Given the description of an element on the screen output the (x, y) to click on. 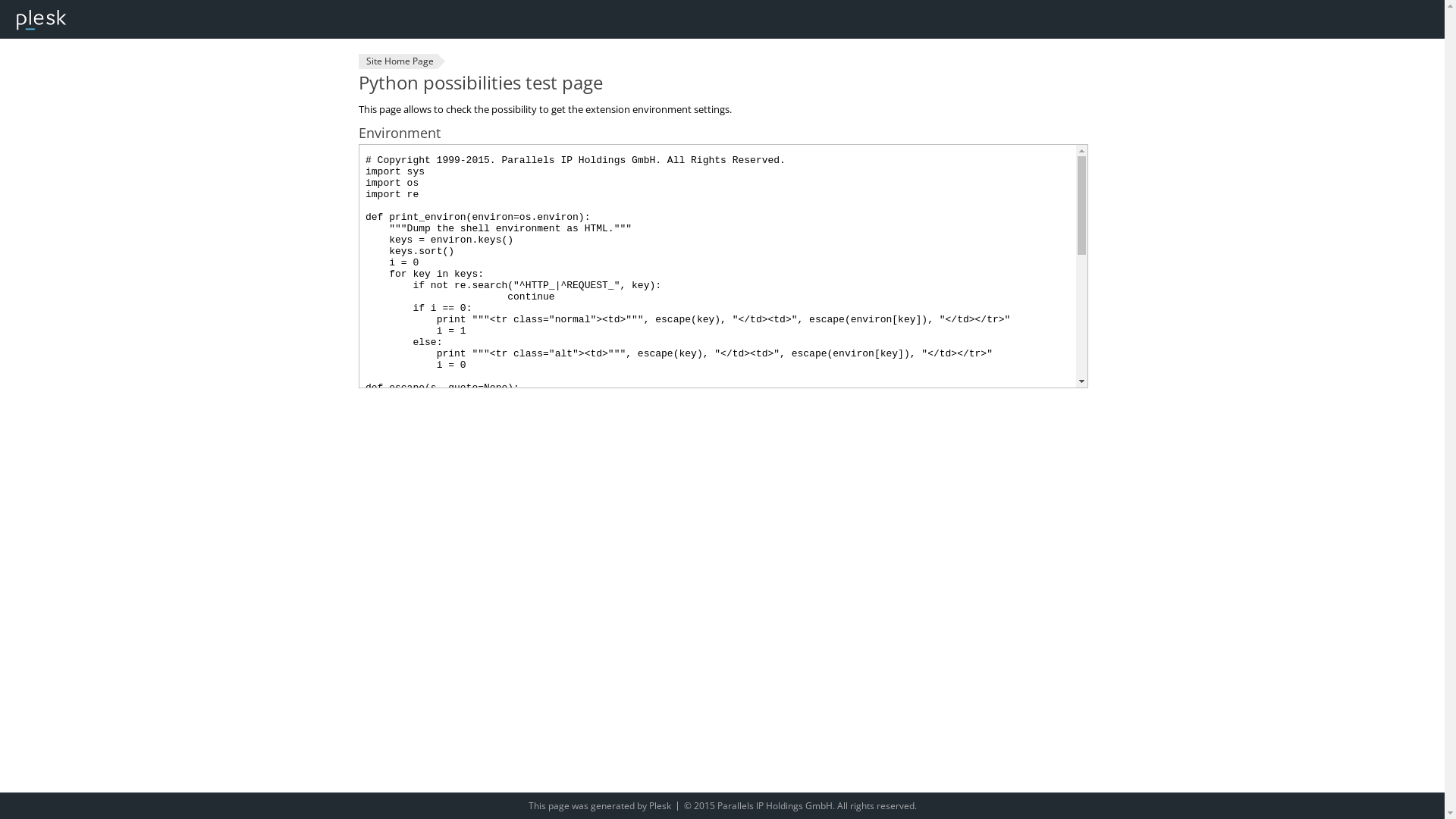
Site Home Page Element type: text (396, 61)
Plesk Element type: text (660, 805)
